Given the description of an element on the screen output the (x, y) to click on. 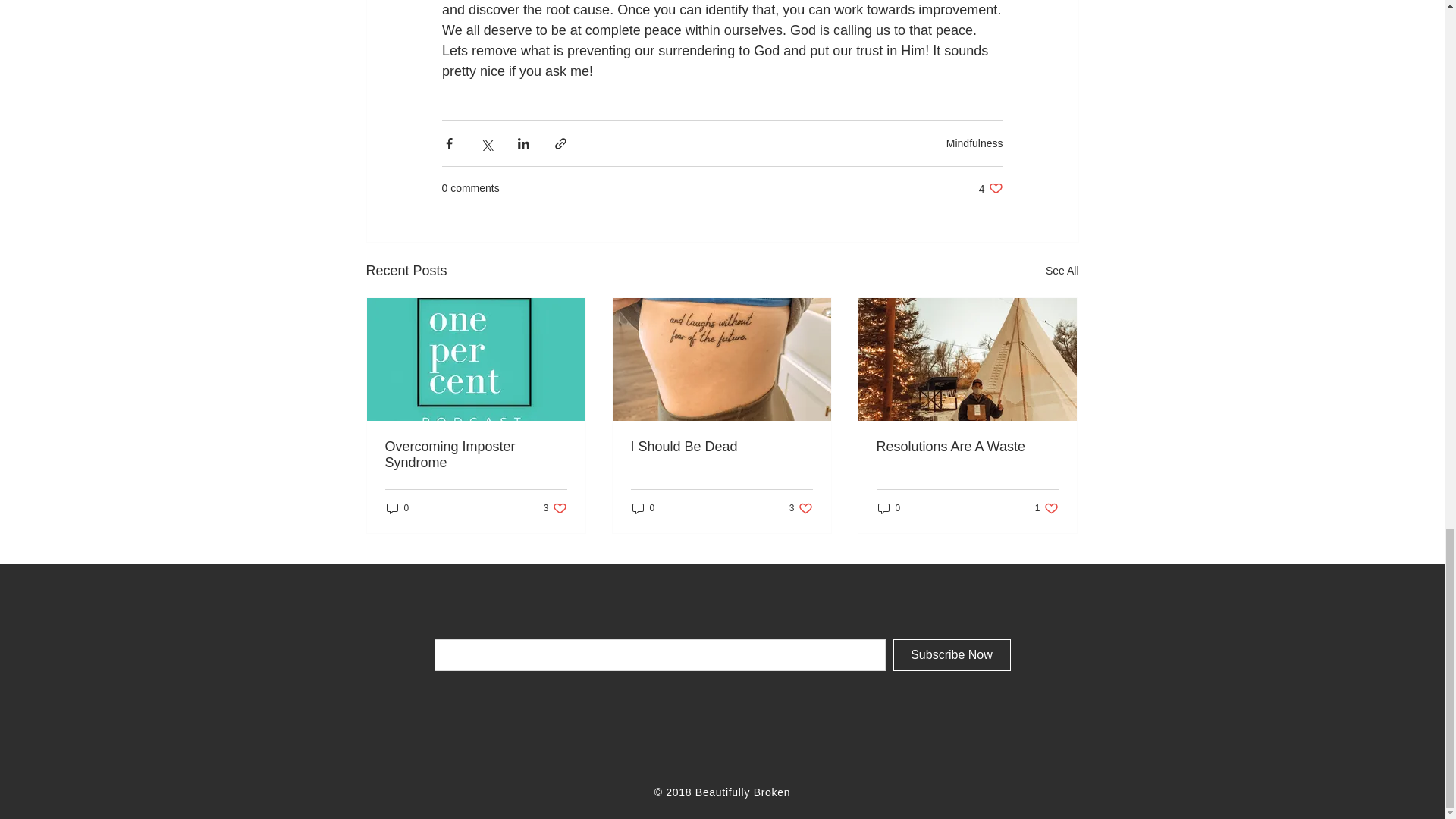
Subscribe Now (951, 654)
Mindfulness (974, 143)
0 (555, 508)
See All (990, 187)
0 (800, 508)
Resolutions Are A Waste (643, 508)
